Given the description of an element on the screen output the (x, y) to click on. 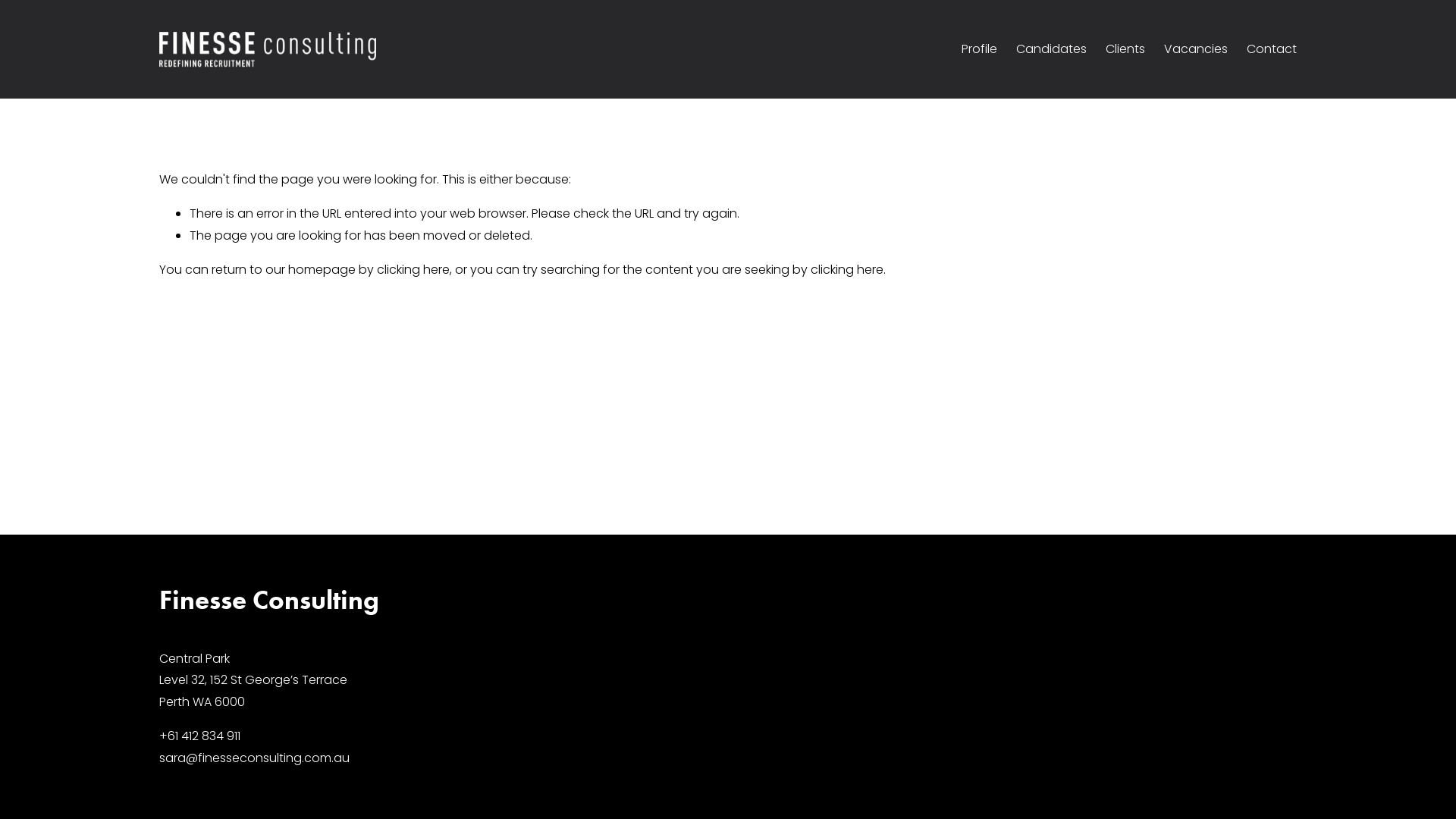
Profile Element type: text (979, 49)
Contact Element type: text (1271, 49)
Candidates Element type: text (1051, 49)
clicking here Element type: text (846, 269)
clicking here Element type: text (412, 269)
Clients Element type: text (1125, 49)
Vacancies Element type: text (1195, 49)
